Given the description of an element on the screen output the (x, y) to click on. 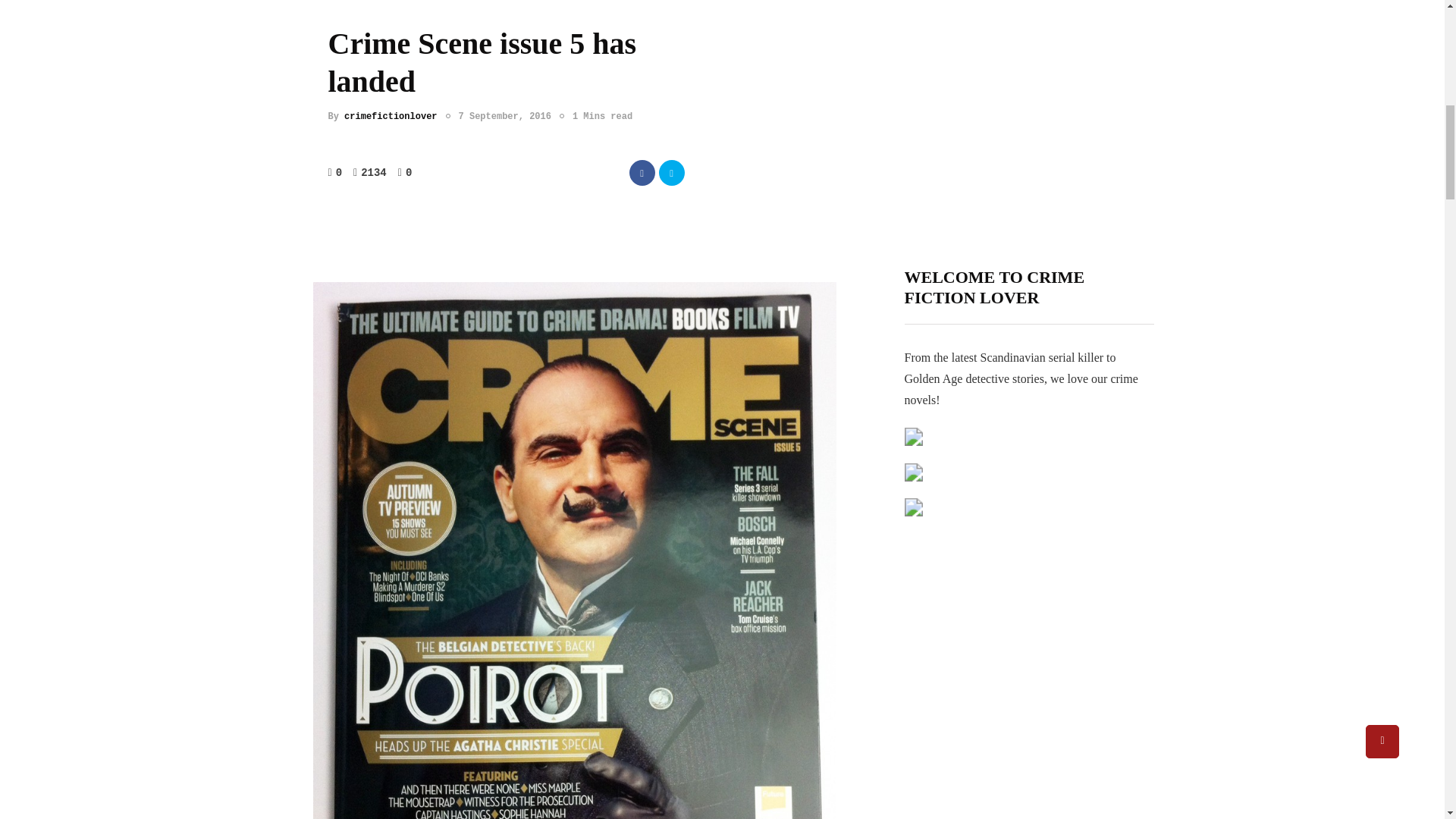
Share with Facebook (641, 172)
Posts by crimefictionlover (389, 116)
crimefictionlover (389, 116)
Tweet this (671, 172)
